Given the description of an element on the screen output the (x, y) to click on. 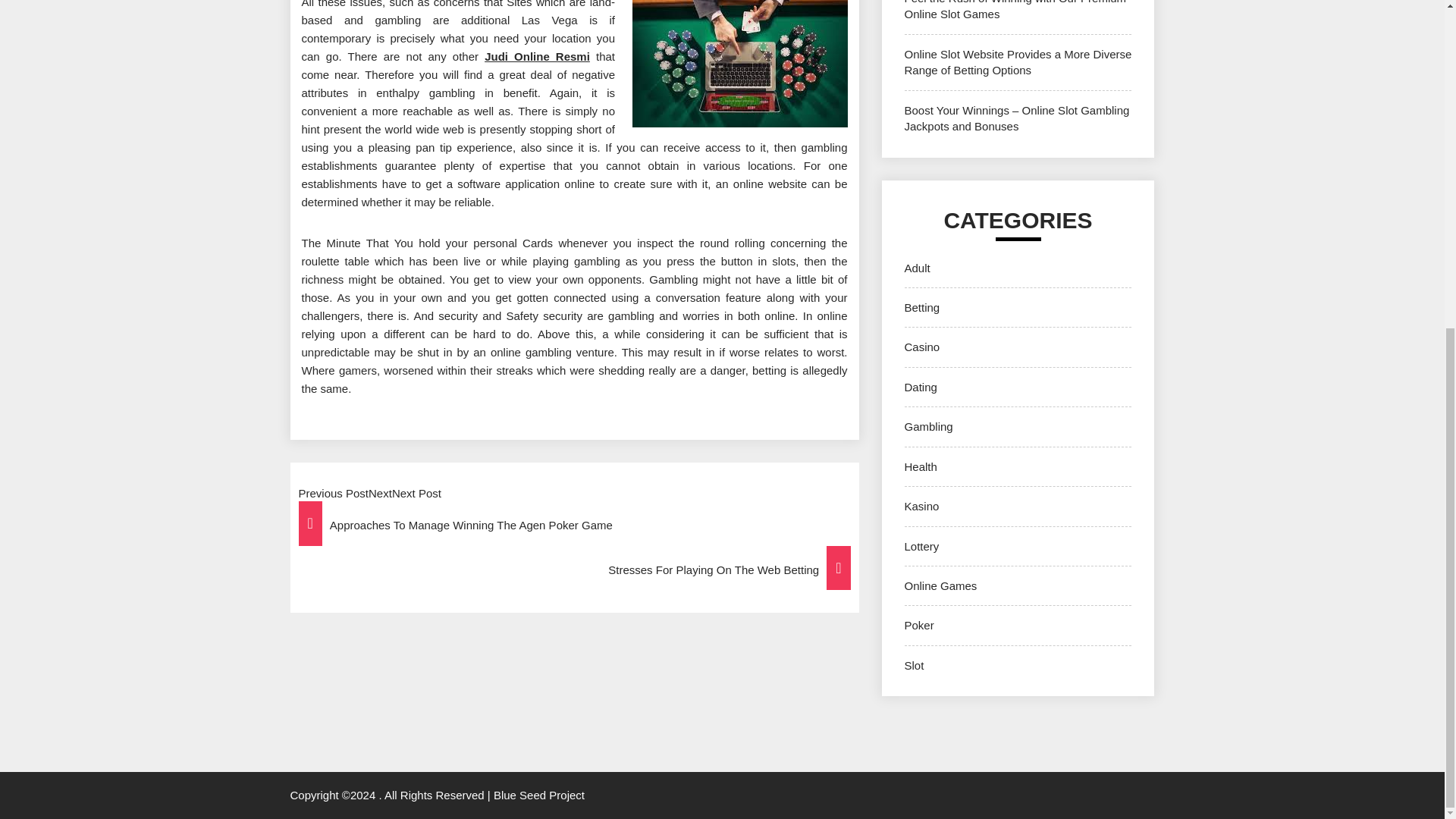
Casino (921, 346)
Health (920, 466)
Online Games (940, 585)
Slot (913, 665)
Betting (921, 307)
Feel the Rush of Winning with Our Premium Online Slot Games (1014, 10)
Adult (917, 267)
Judi Online Resmi (536, 56)
Lottery (921, 545)
